Given the description of an element on the screen output the (x, y) to click on. 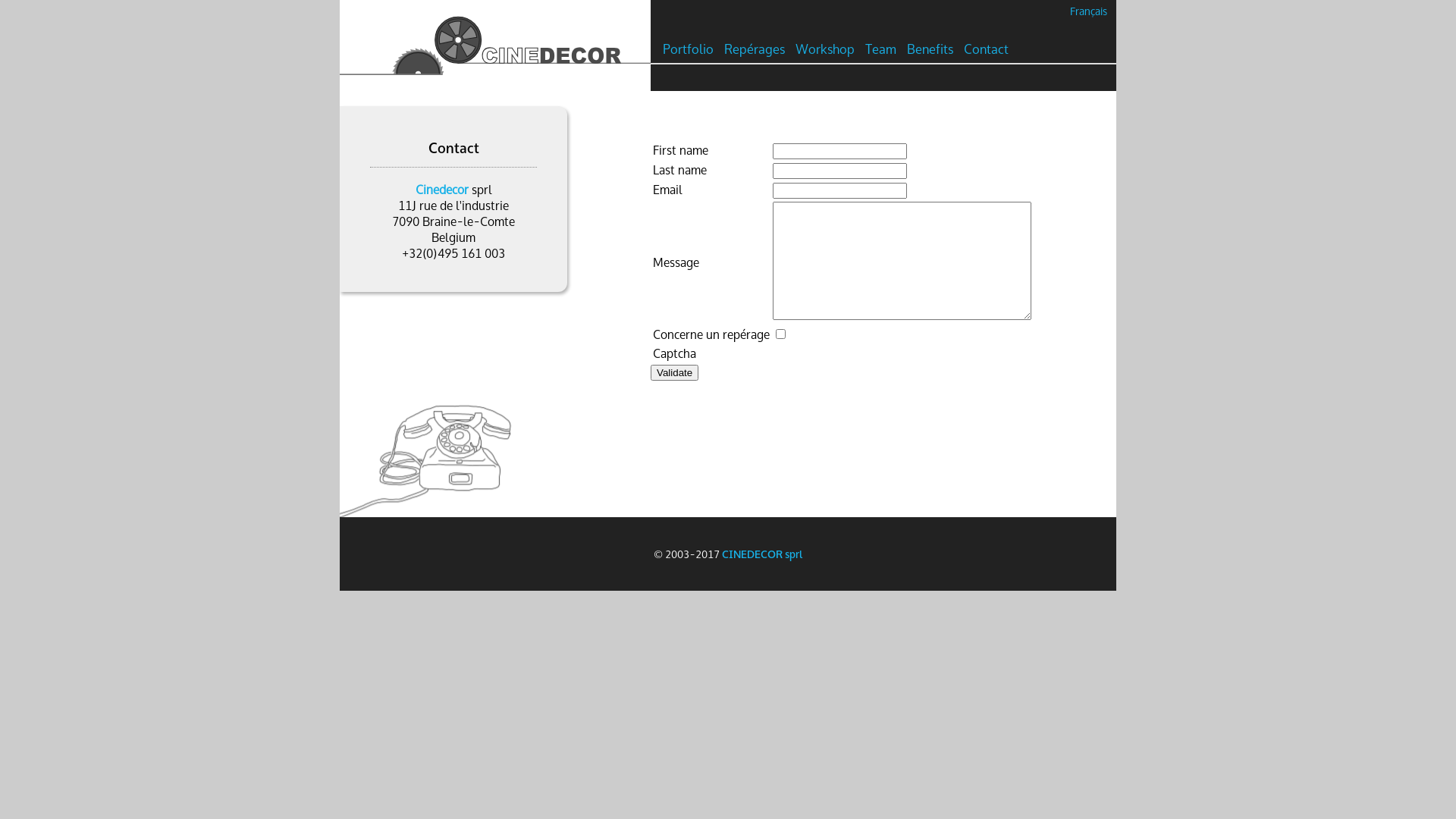
Validate Element type: text (674, 372)
Benefits Element type: text (929, 49)
Team Element type: text (880, 49)
Portfolio Element type: text (687, 49)
Contact Element type: text (985, 49)
Workshop Element type: text (824, 49)
